Given the description of an element on the screen output the (x, y) to click on. 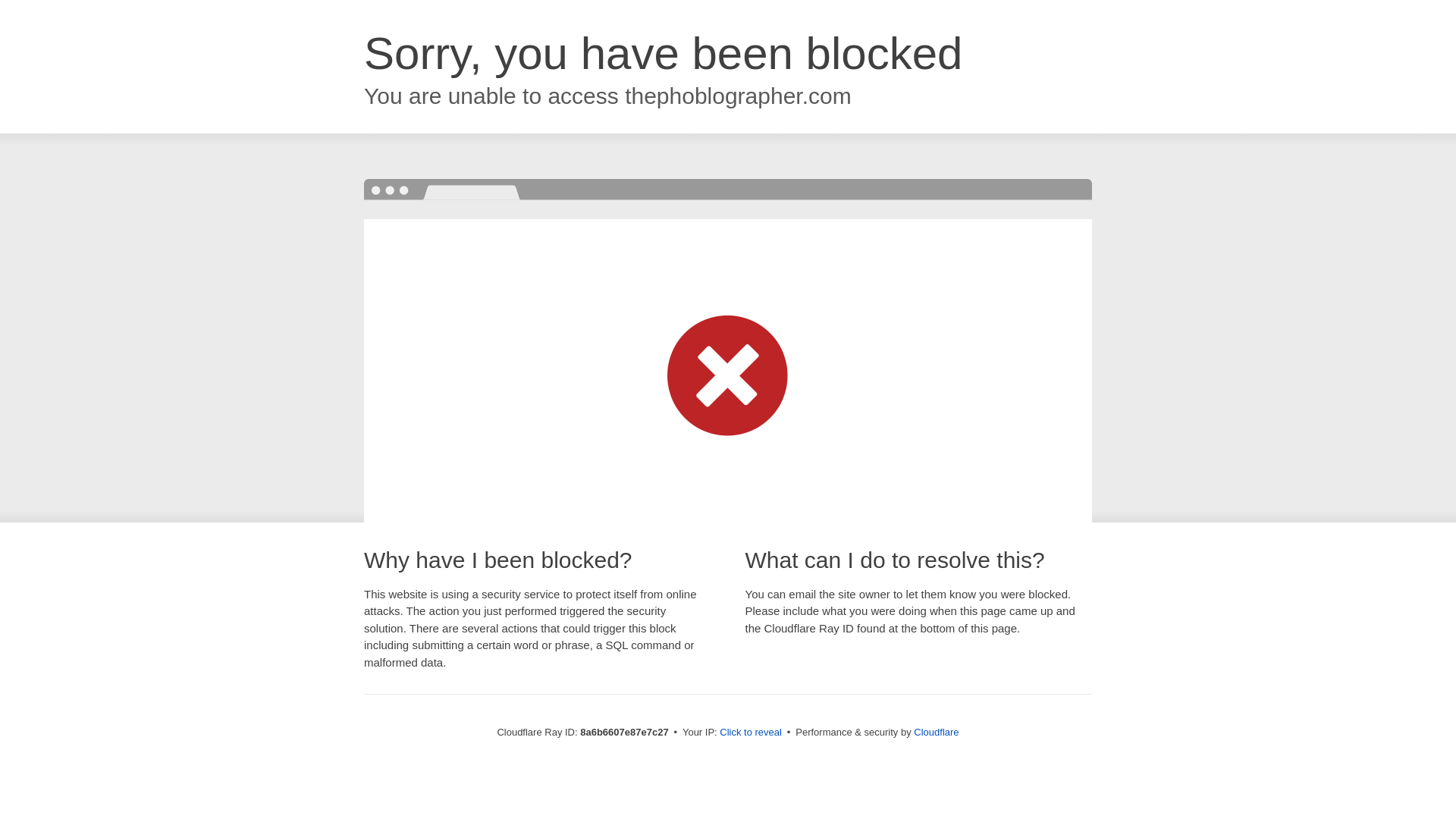
Cloudflare (936, 731)
Click to reveal (750, 732)
